Given the description of an element on the screen output the (x, y) to click on. 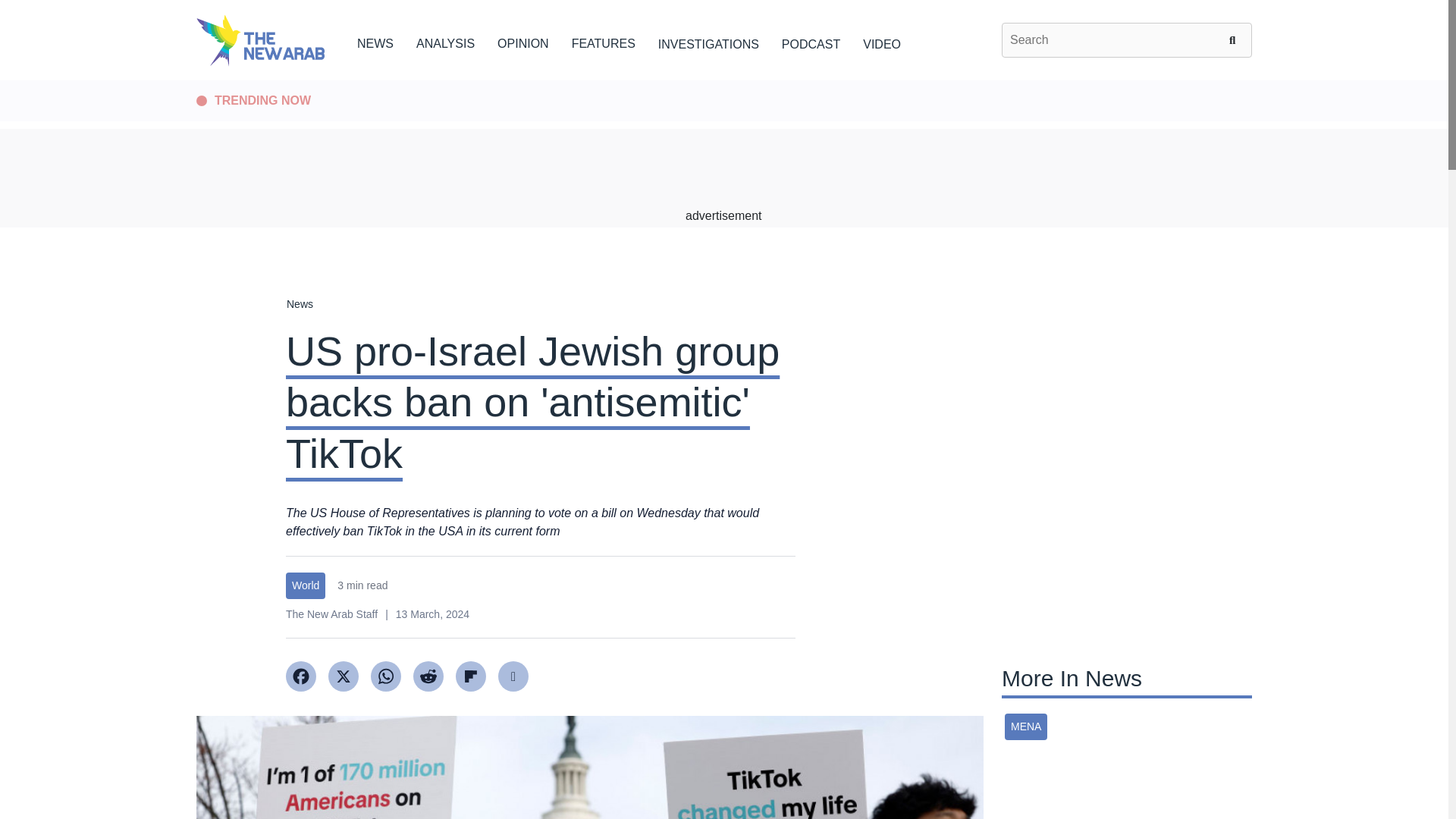
NEWS (375, 41)
Skip to main content (724, 81)
ANALYSIS (445, 41)
Search (1234, 39)
OPINION (523, 41)
